Given the description of an element on the screen output the (x, y) to click on. 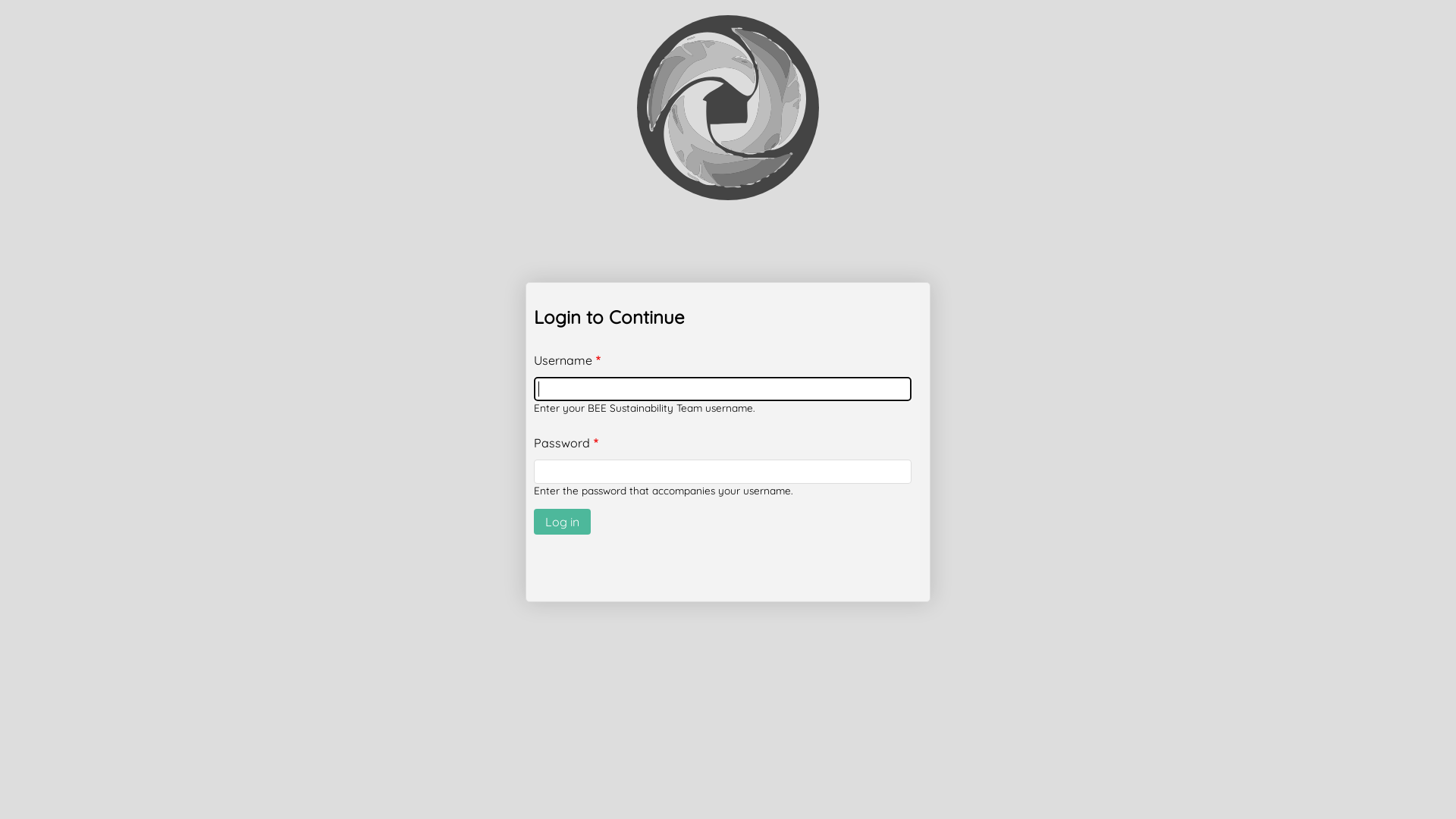
Log in Element type: text (561, 521)
Skip to main content Element type: text (0, 0)
